Given the description of an element on the screen output the (x, y) to click on. 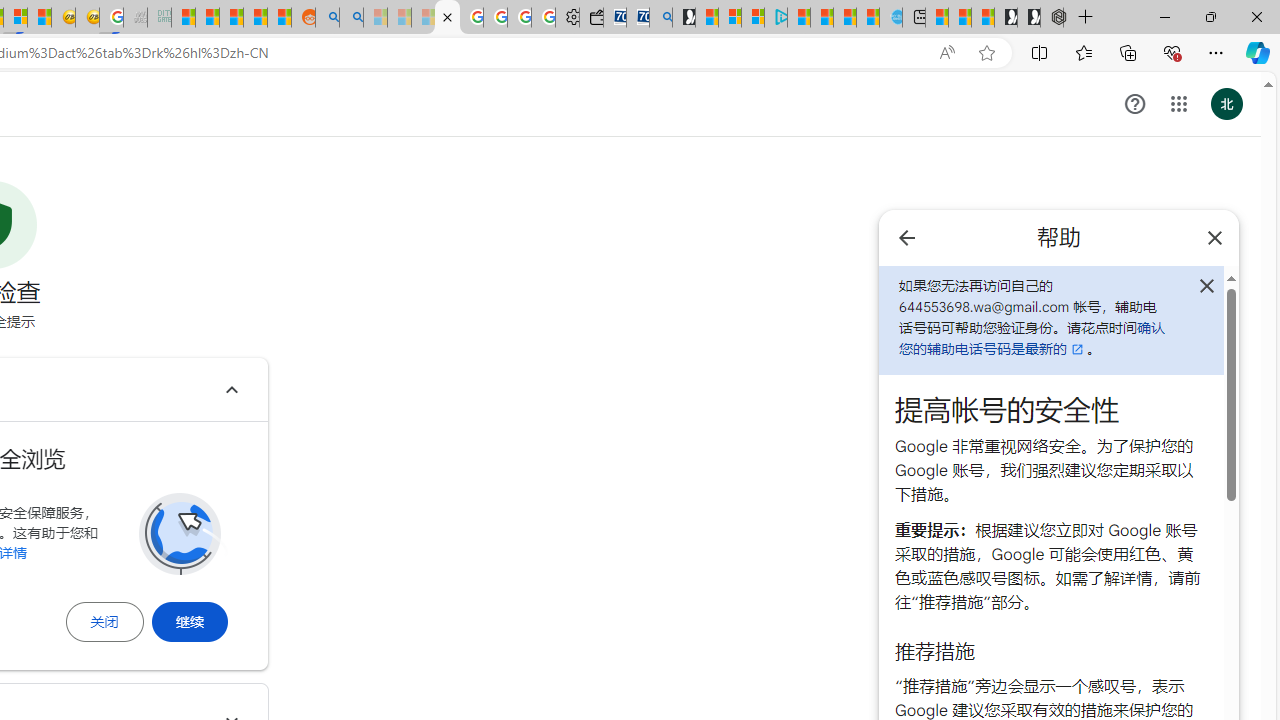
Bing Real Estate - Home sales and rental listings (660, 17)
